Given the description of an element on the screen output the (x, y) to click on. 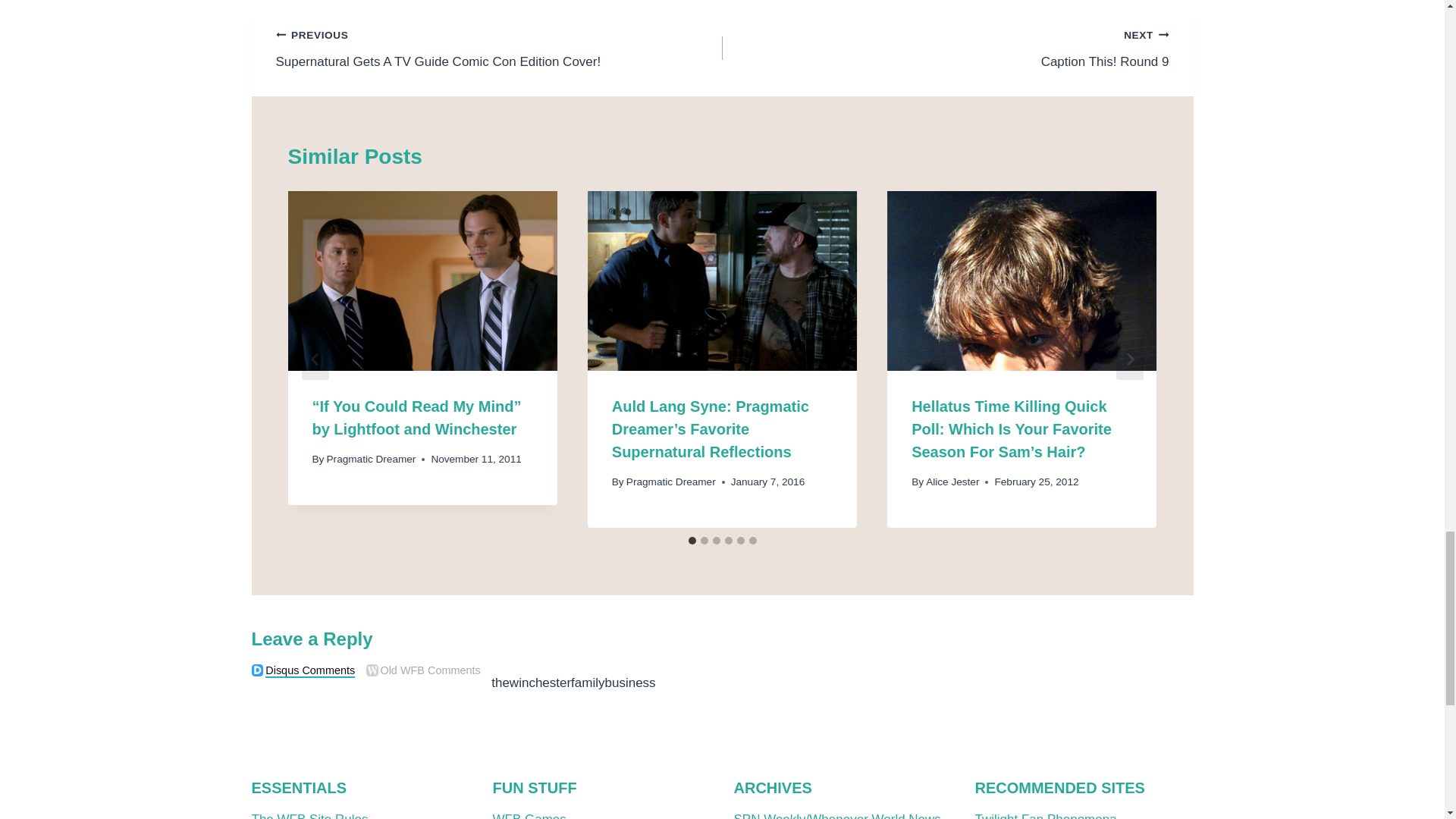
Old WFB Comments (372, 670)
Disqus Comments (257, 670)
